Given the description of an element on the screen output the (x, y) to click on. 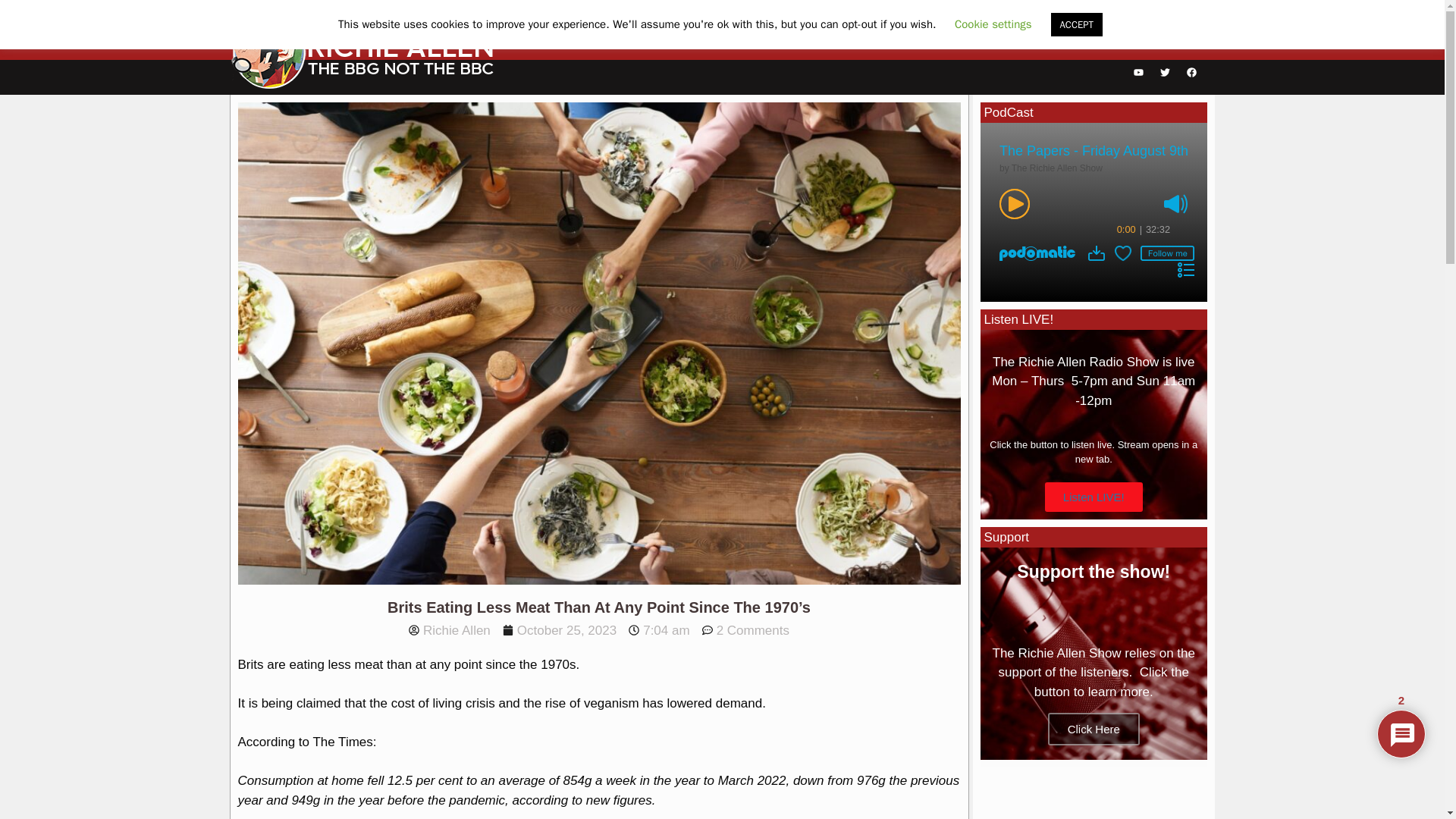
Support Your Show (885, 41)
Comment LIVE! (997, 41)
Log in (1073, 41)
About (721, 41)
My RAS (783, 41)
Home (674, 41)
Register (1128, 41)
Contact (1186, 41)
